Given the description of an element on the screen output the (x, y) to click on. 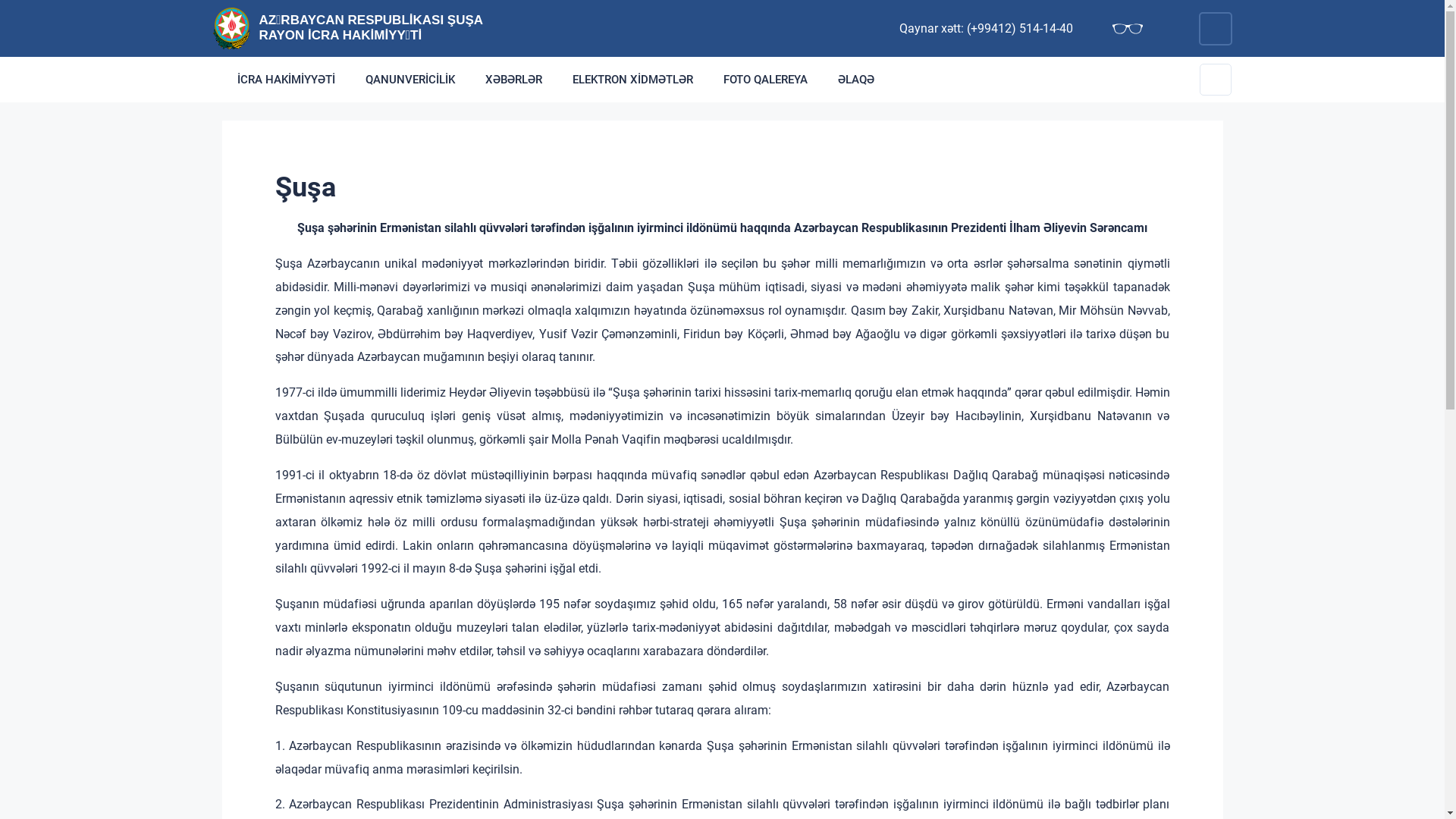
FOTO QALEREYA Element type: text (765, 79)
QANUNVERICILIK Element type: text (410, 79)
